Given the description of an element on the screen output the (x, y) to click on. 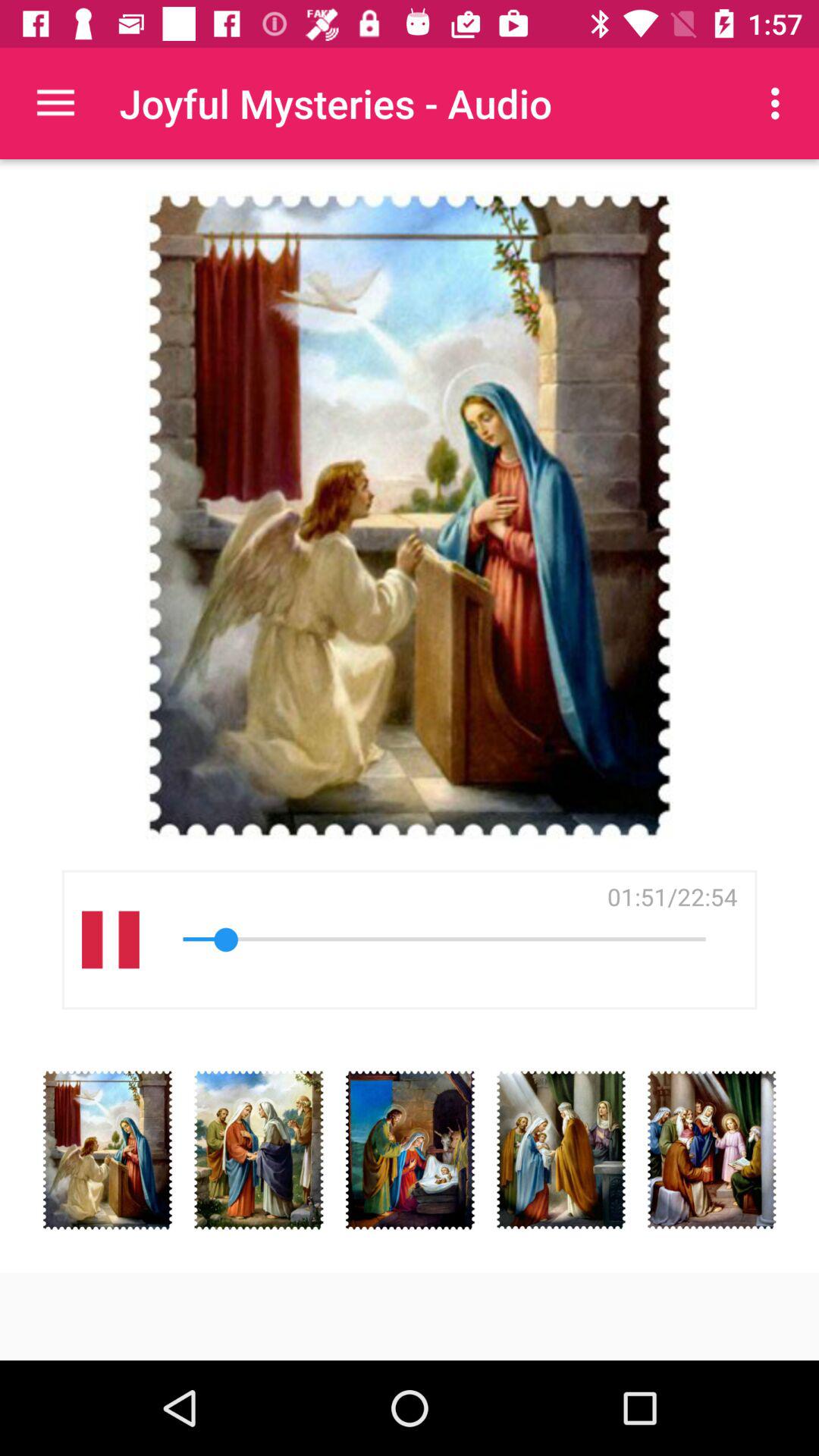
press icon on the right (672, 896)
